Given the description of an element on the screen output the (x, y) to click on. 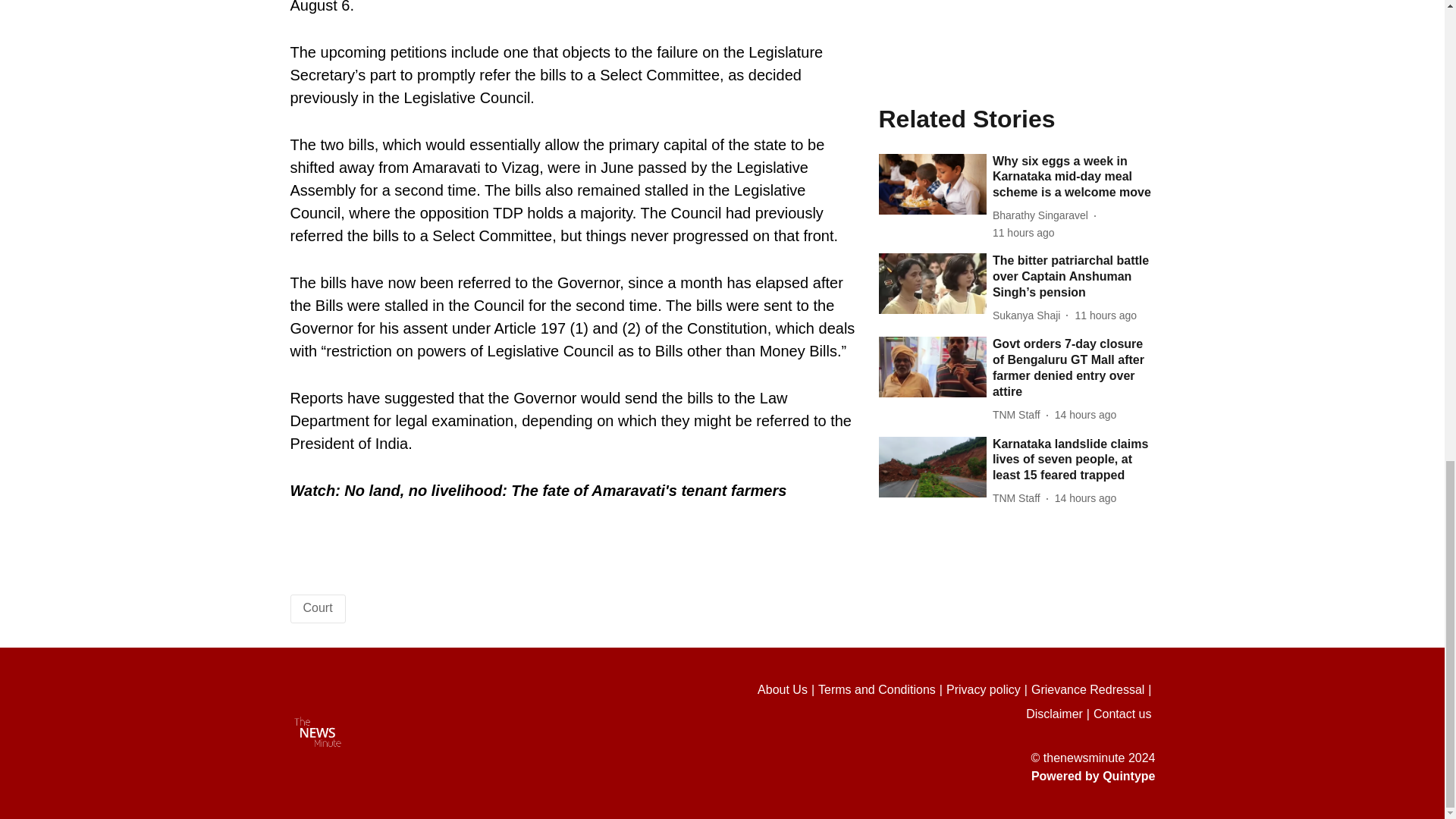
About Us (787, 689)
Court (317, 607)
Terms and Conditions (882, 689)
